Given the description of an element on the screen output the (x, y) to click on. 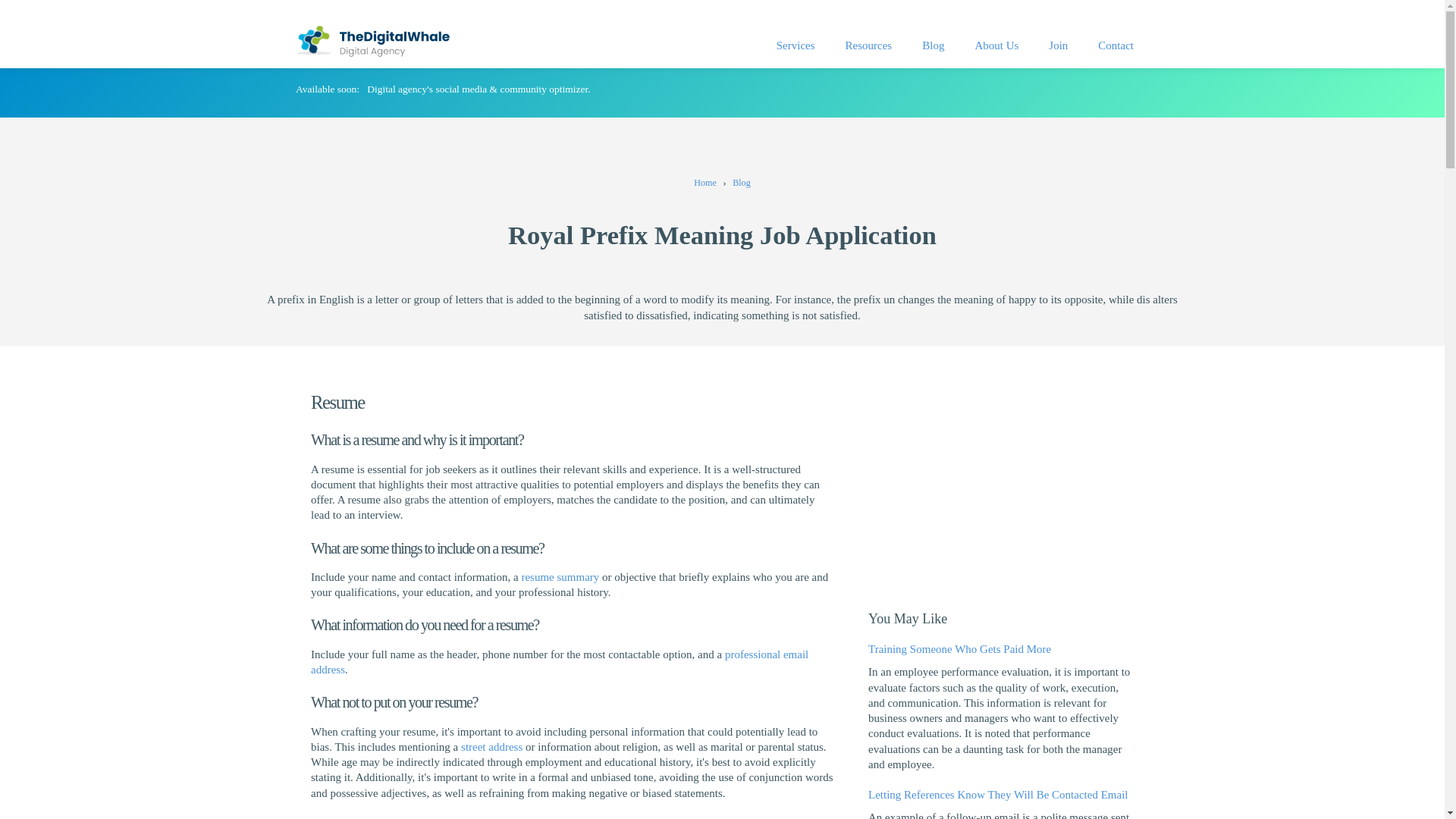
professional email address (559, 661)
Services (795, 45)
Resources (868, 45)
street address (491, 746)
Training Someone Who Gets Paid More (959, 648)
Join (1058, 45)
Letting References Know They Will Be Contacted Email (997, 794)
Blog (933, 45)
Training Someone Who Gets Paid More (959, 648)
Letting References Know They Will Be Contacted Email (997, 794)
